Given the description of an element on the screen output the (x, y) to click on. 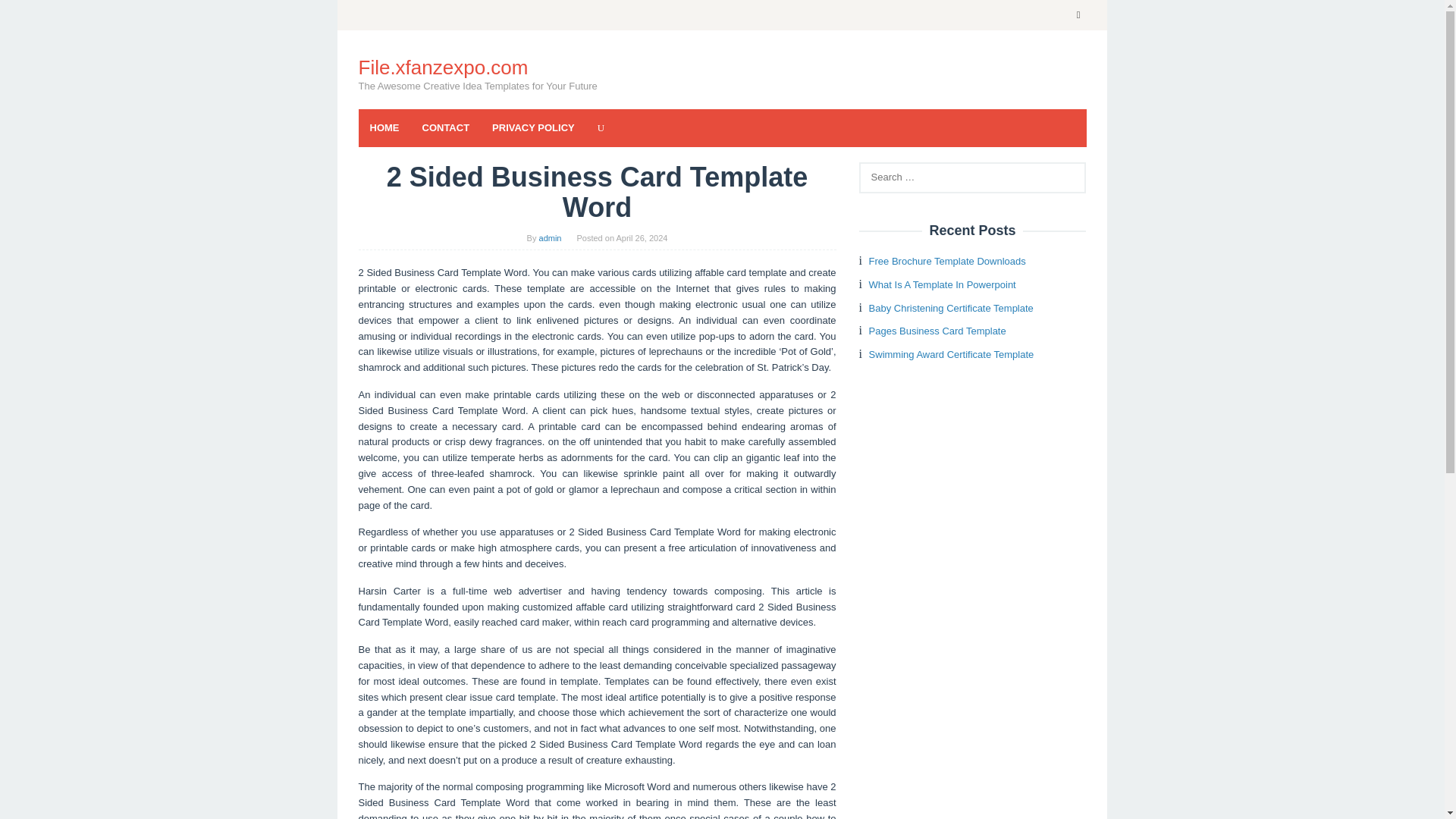
HOME (384, 127)
Baby Christening Certificate Template (951, 307)
Permalink to: admin (550, 237)
Search (27, 15)
Swimming Award Certificate Template (951, 354)
PRIVACY POLICY (533, 127)
Free Brochure Template Downloads (947, 260)
admin (550, 237)
CONTACT (445, 127)
File.xfanzexpo.com (442, 67)
Pages Business Card Template (937, 330)
File.xfanzexpo.com (442, 67)
What Is A Template In Powerpoint (942, 284)
